Given the description of an element on the screen output the (x, y) to click on. 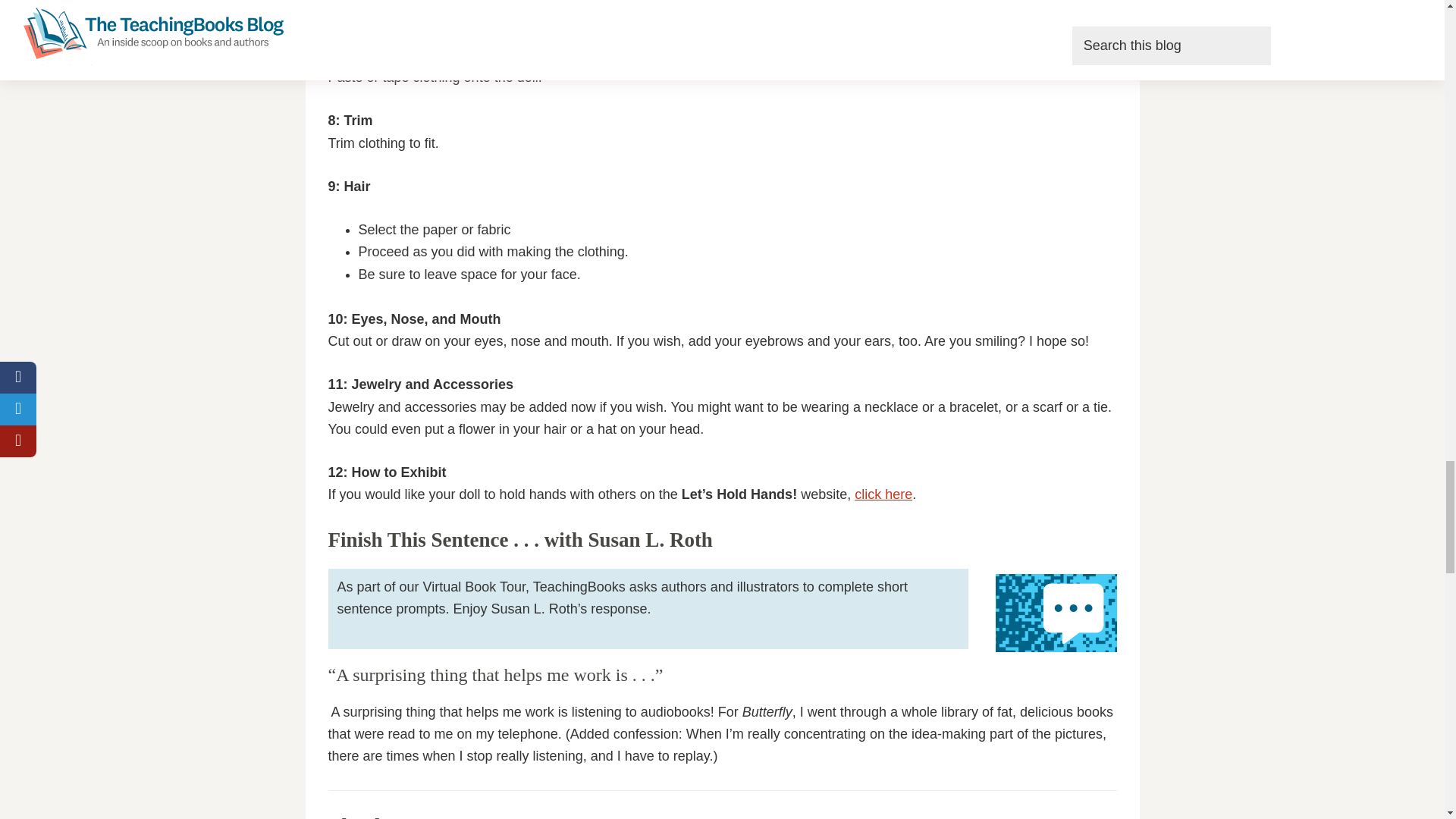
click here (883, 494)
